Given the description of an element on the screen output the (x, y) to click on. 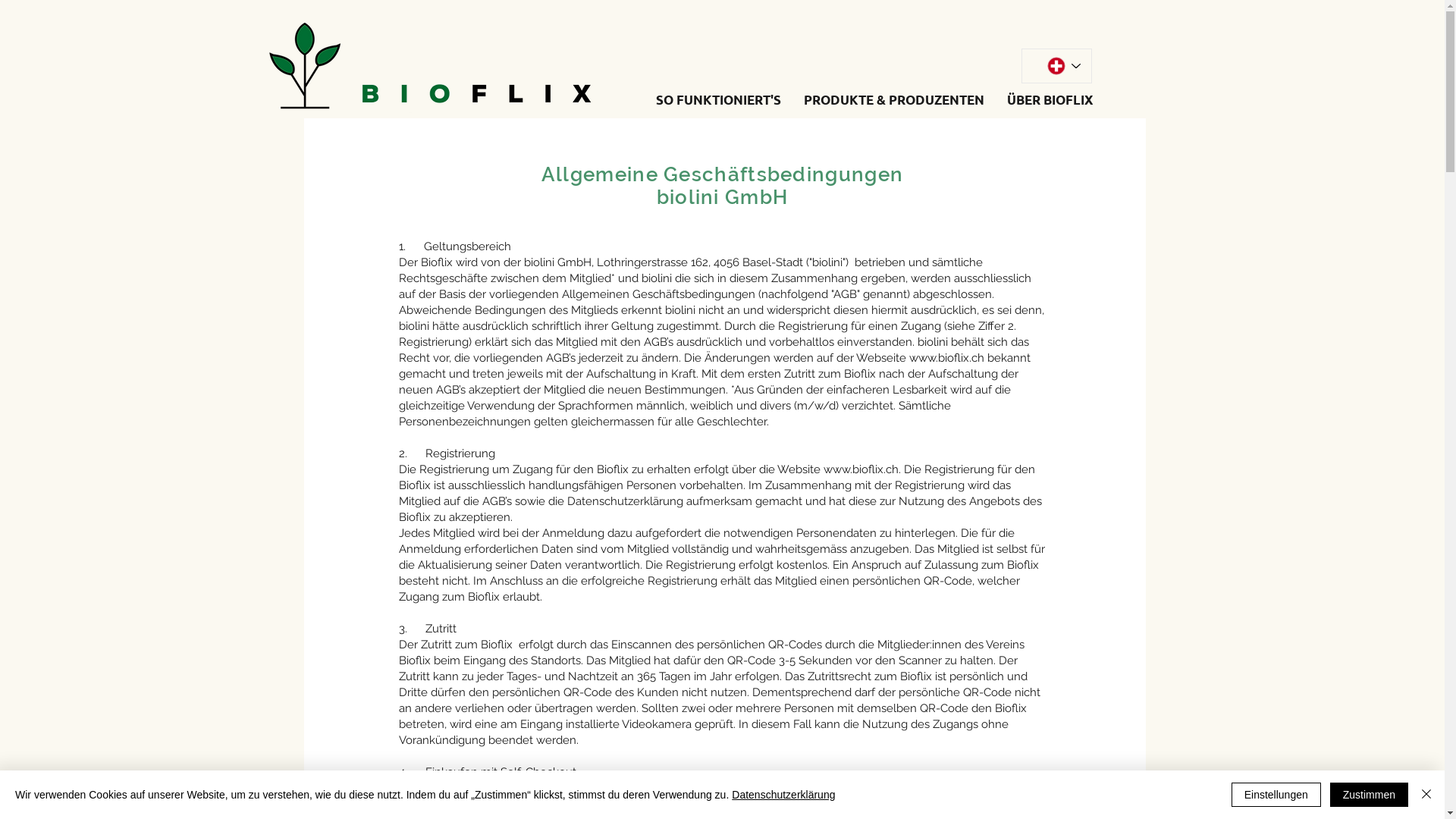
www.bioflix.ch Element type: text (945, 357)
PRODUKTE & PRODUZENTEN Element type: text (892, 98)
Einstellungen Element type: text (1276, 794)
SO FUNKTIONIERT'S Element type: text (718, 98)
Zustimmen Element type: text (1369, 794)
www.bioflix.ch Element type: text (860, 469)
